Given the description of an element on the screen output the (x, y) to click on. 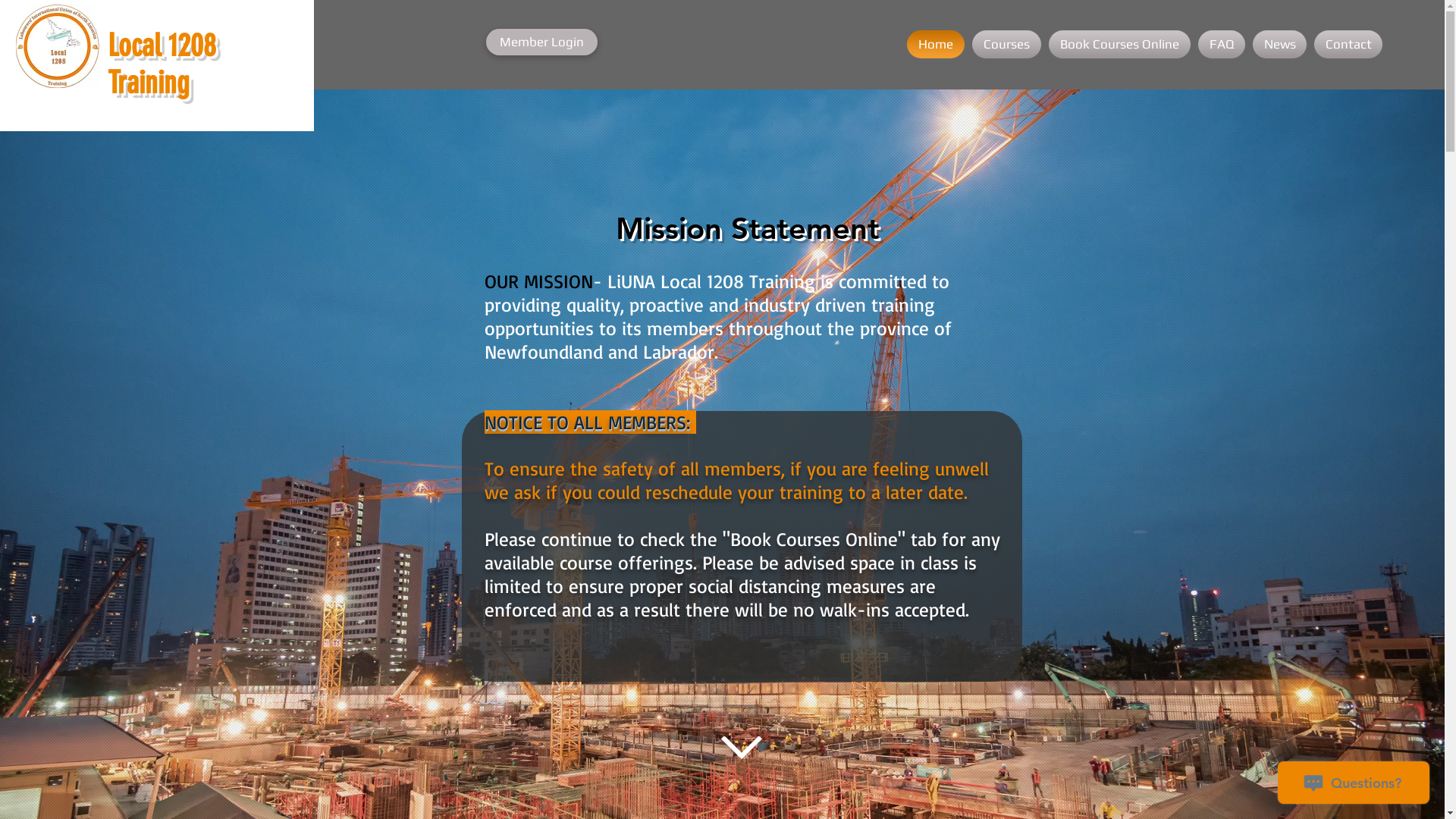
News Element type: text (1279, 44)
Courses Element type: text (1006, 44)
Book Courses Online Element type: text (1119, 44)
FAQ Element type: text (1221, 44)
Member Login Element type: text (541, 41)
Home Element type: text (937, 44)
Contact Element type: text (1346, 44)
